Given the description of an element on the screen output the (x, y) to click on. 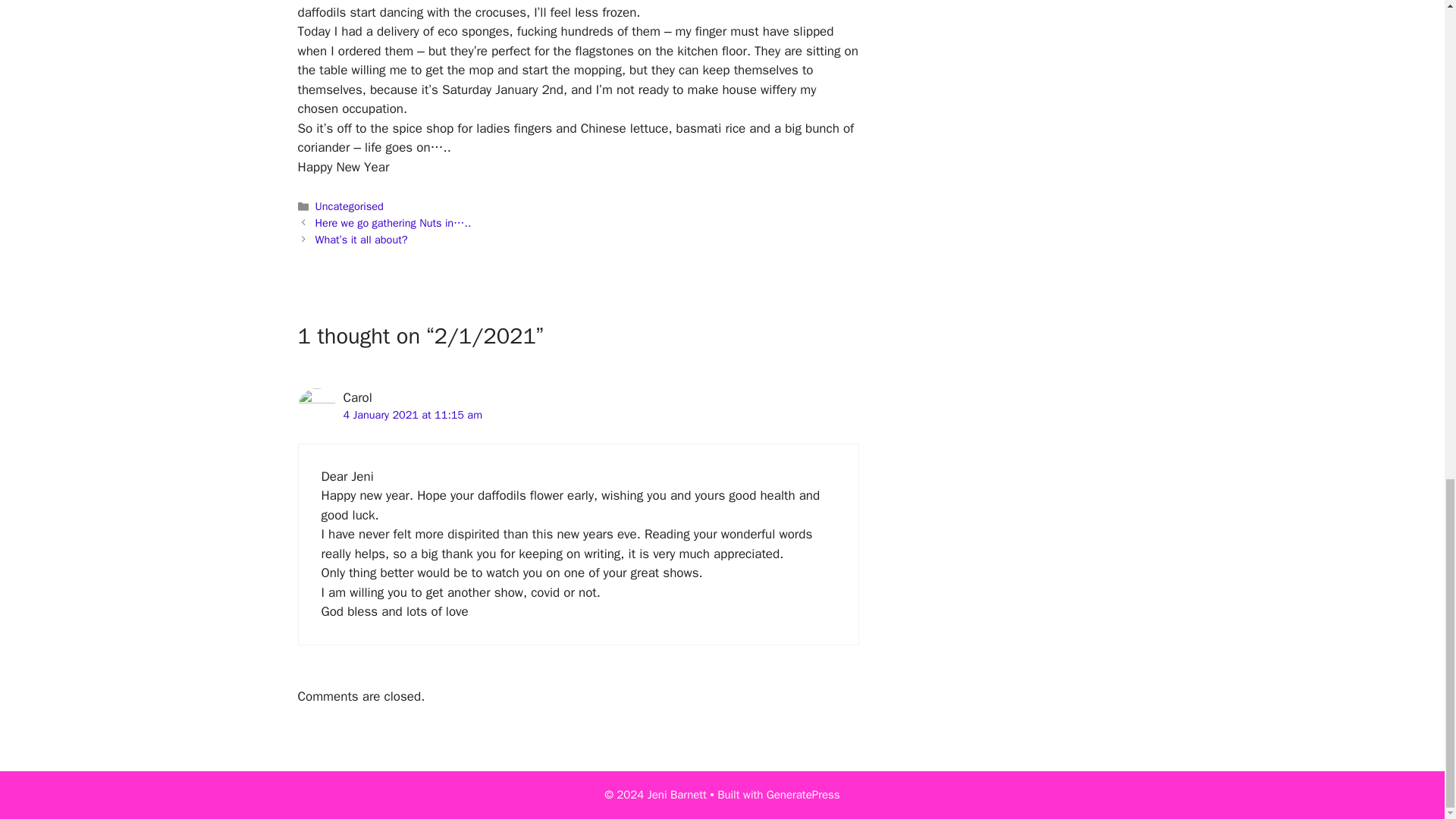
4 January 2021 at 11:15 am (411, 414)
GeneratePress (803, 794)
Uncategorised (349, 205)
